Given the description of an element on the screen output the (x, y) to click on. 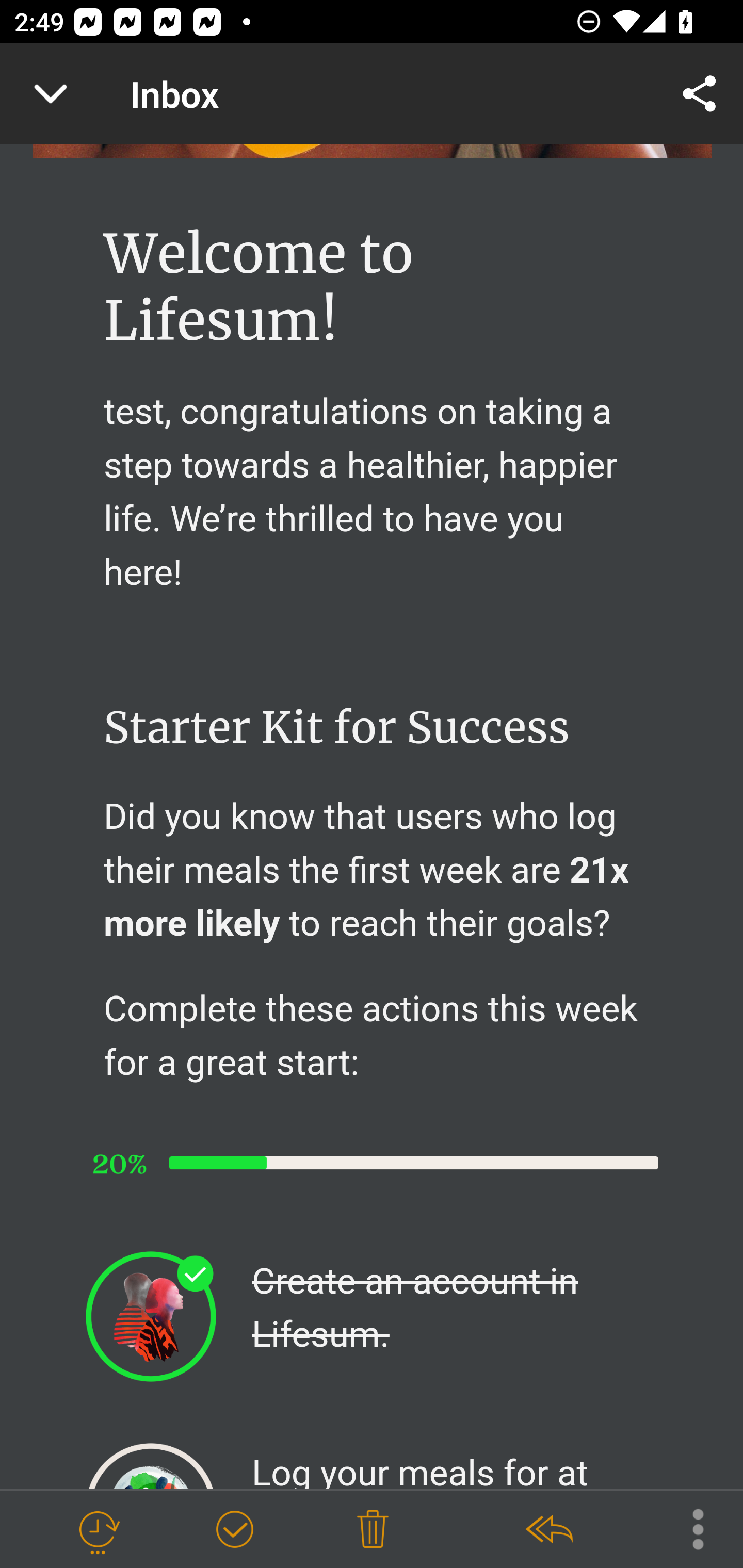
Navigate up (50, 93)
Share (699, 93)
Progress bar showing 20% completion rate (371, 1163)
More Options (687, 1528)
Snooze (97, 1529)
Mark as Done (234, 1529)
Delete (372, 1529)
Reply All (548, 1529)
